Given the description of an element on the screen output the (x, y) to click on. 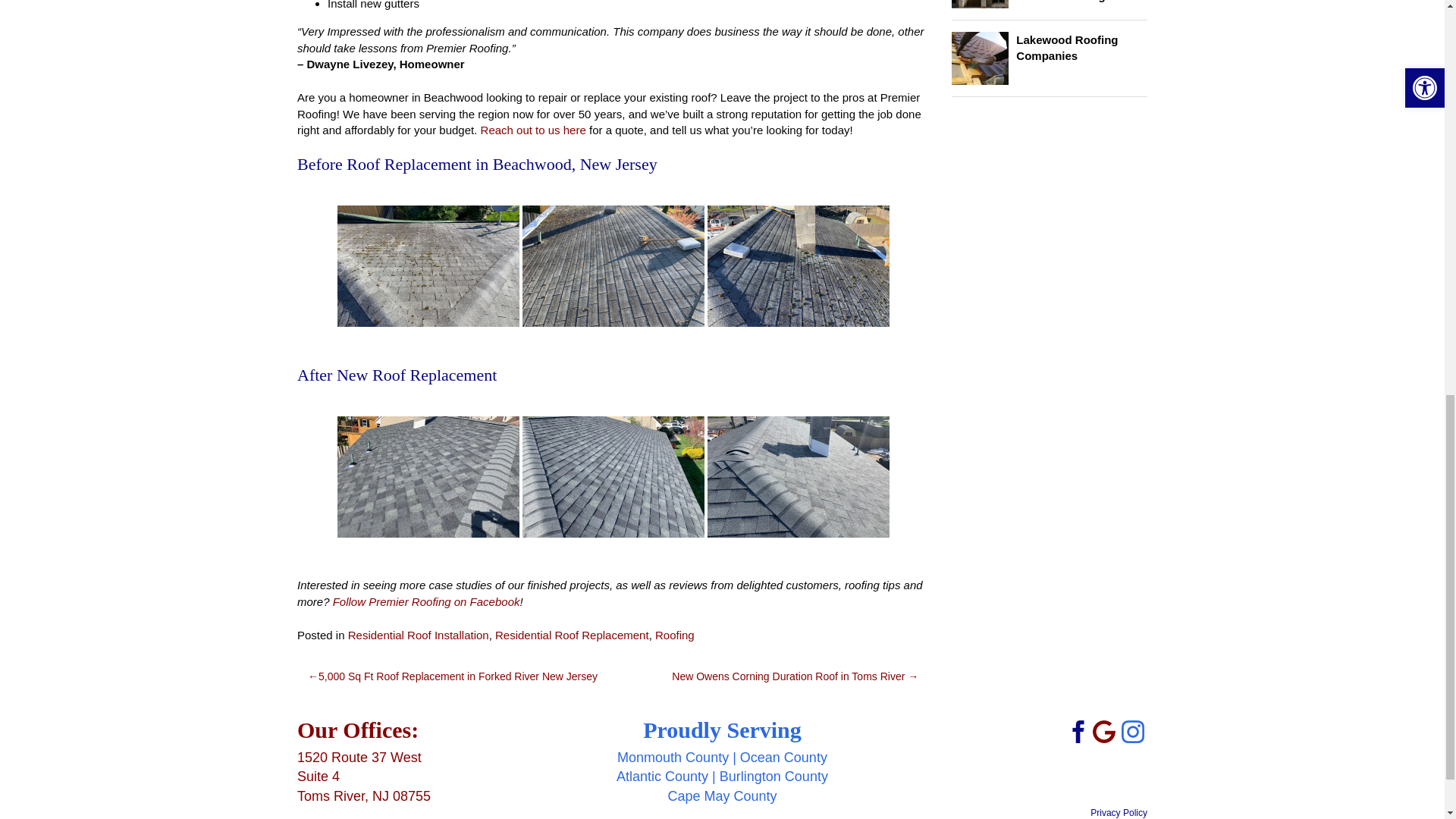
before-Roof-Replacement-in-Beachwood-New-Jersey-3 (798, 265)
after-Roof-Replacement-in-Beachwood-New-Jersey-2 (613, 476)
before-Roof-Replacement-in-Beachwood-New-Jersey-1 (613, 265)
facebook (1075, 730)
Reach out to us here (533, 129)
after-Roof-Replacement-in-Beachwood-New-Jersey-1 (428, 476)
after-Roof-Replacement-in-Beachwood-New-Jersey-3 (798, 476)
before-Roof-Replacement-in-Beachwood-New-Jersey-2 (428, 265)
